Given the description of an element on the screen output the (x, y) to click on. 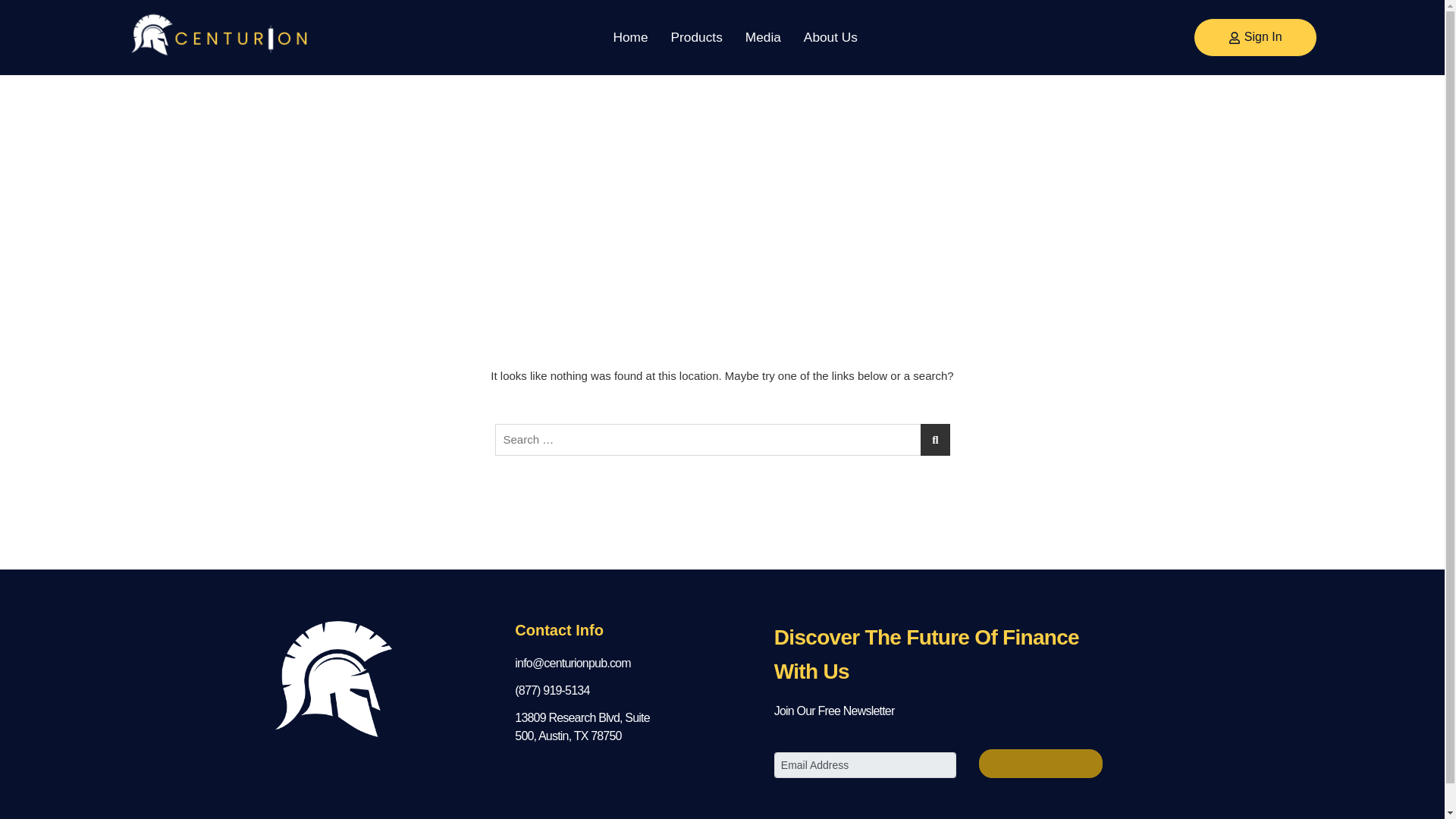
About Us (830, 37)
Email Address (865, 765)
Media (762, 37)
Search (227, 6)
Sign In (1255, 37)
Home (629, 37)
Subscribe (1040, 763)
Products (696, 37)
